Given the description of an element on the screen output the (x, y) to click on. 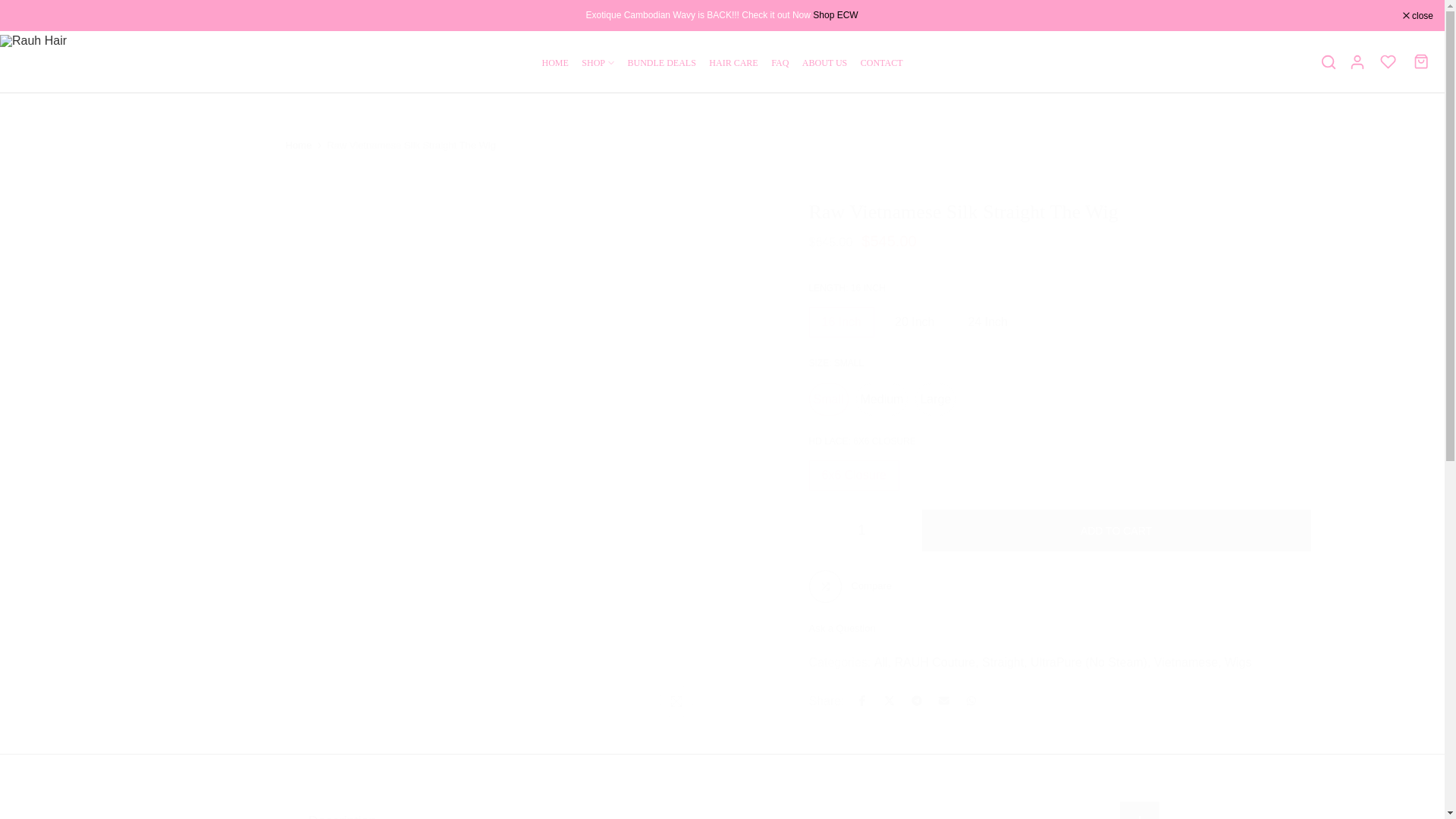
ABOUT US (823, 62)
Skip to content (10, 7)
Share on Email (943, 700)
Ask a Question (841, 627)
SHOP (598, 62)
Wigs (1238, 662)
close (1417, 14)
Shop ECW (836, 14)
Home (298, 145)
Share on WhatsApp (970, 700)
